Given the description of an element on the screen output the (x, y) to click on. 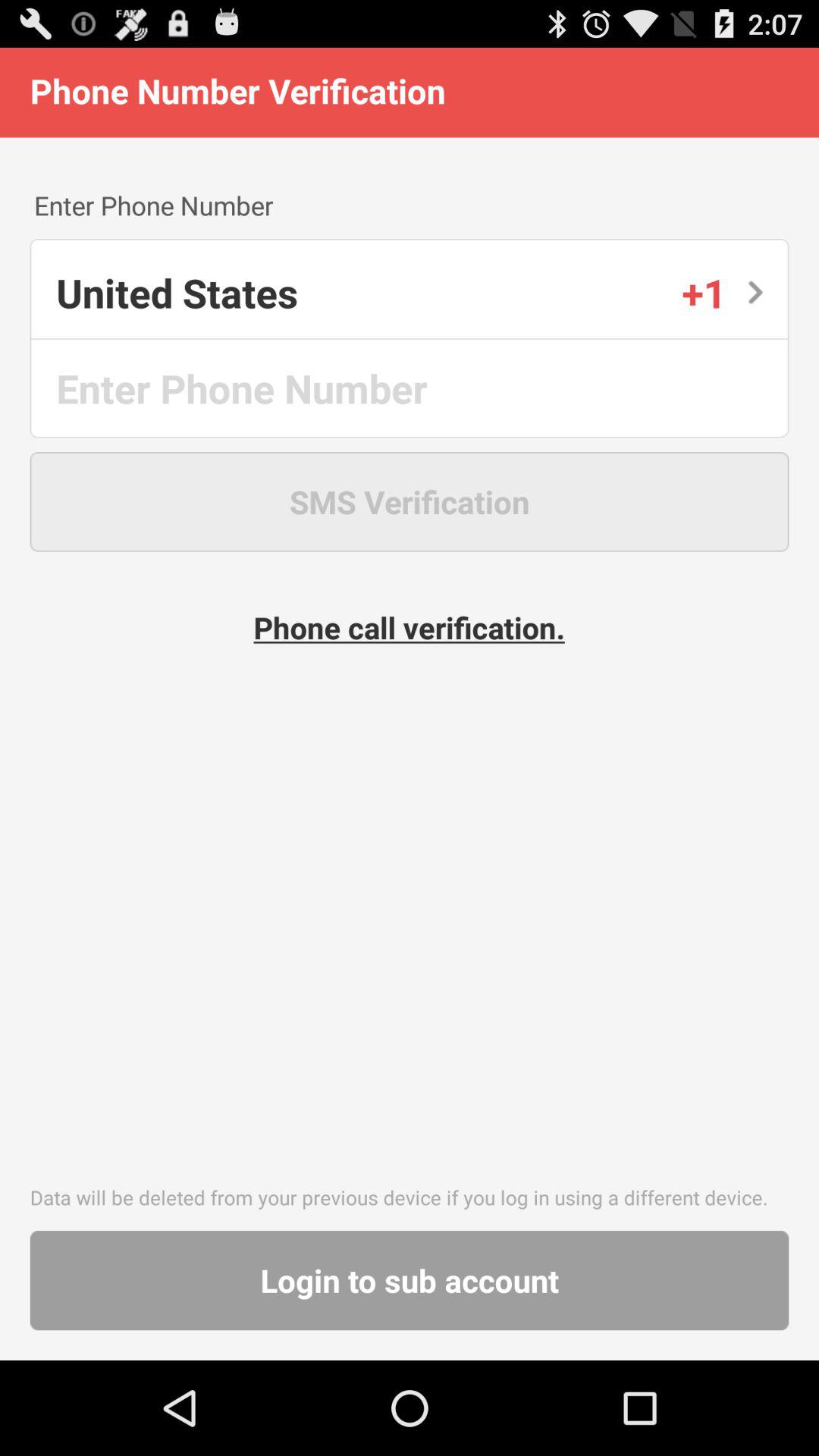
phone number entry (411, 387)
